Given the description of an element on the screen output the (x, y) to click on. 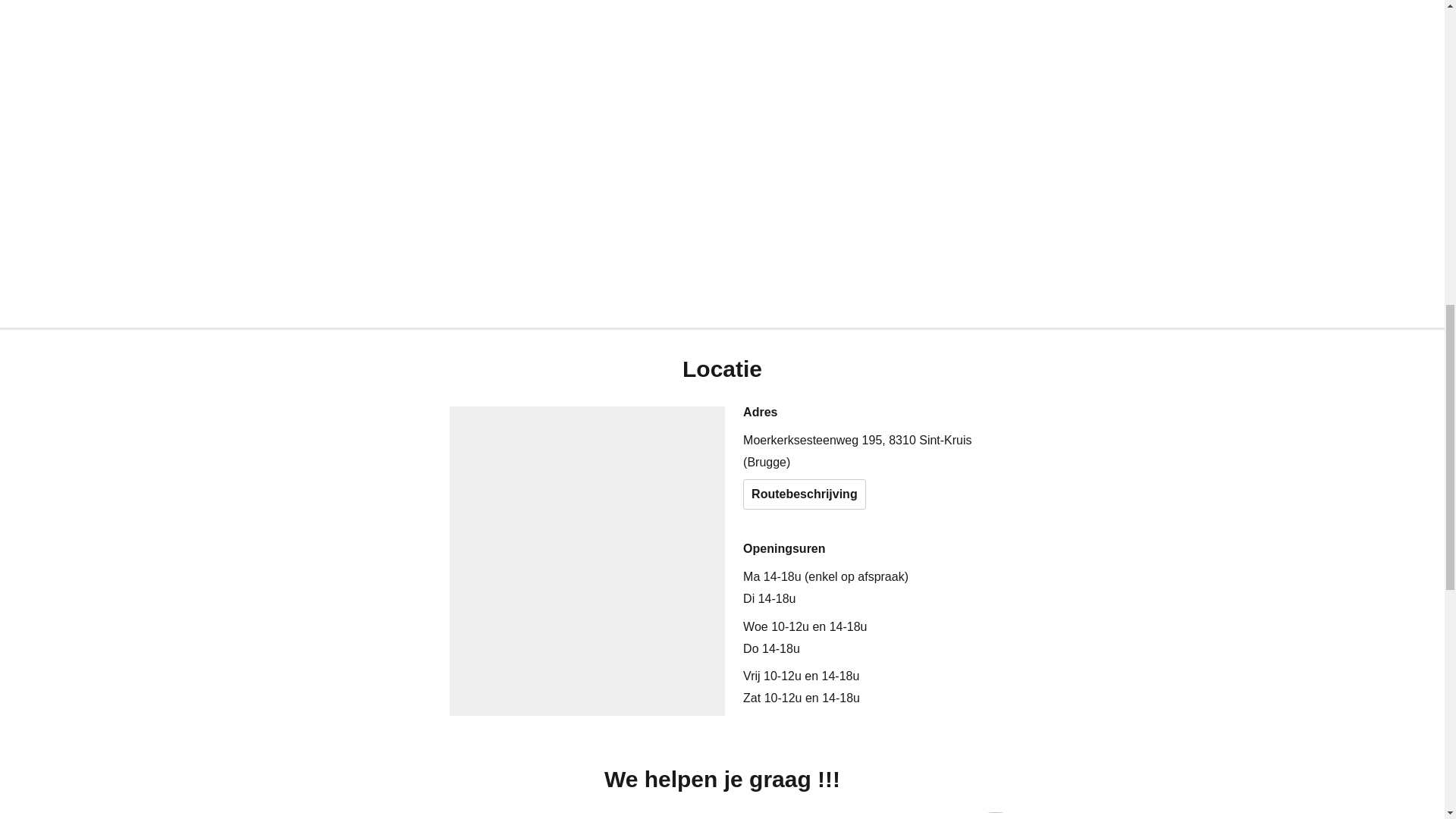
Contact Element type: text (269, 26)
Winkel Element type: text (51, 26)
Over ons Element type: text (125, 26)
Nu winkelen Element type: text (1165, 758)
Locatie Element type: text (199, 26)
